Given the description of an element on the screen output the (x, y) to click on. 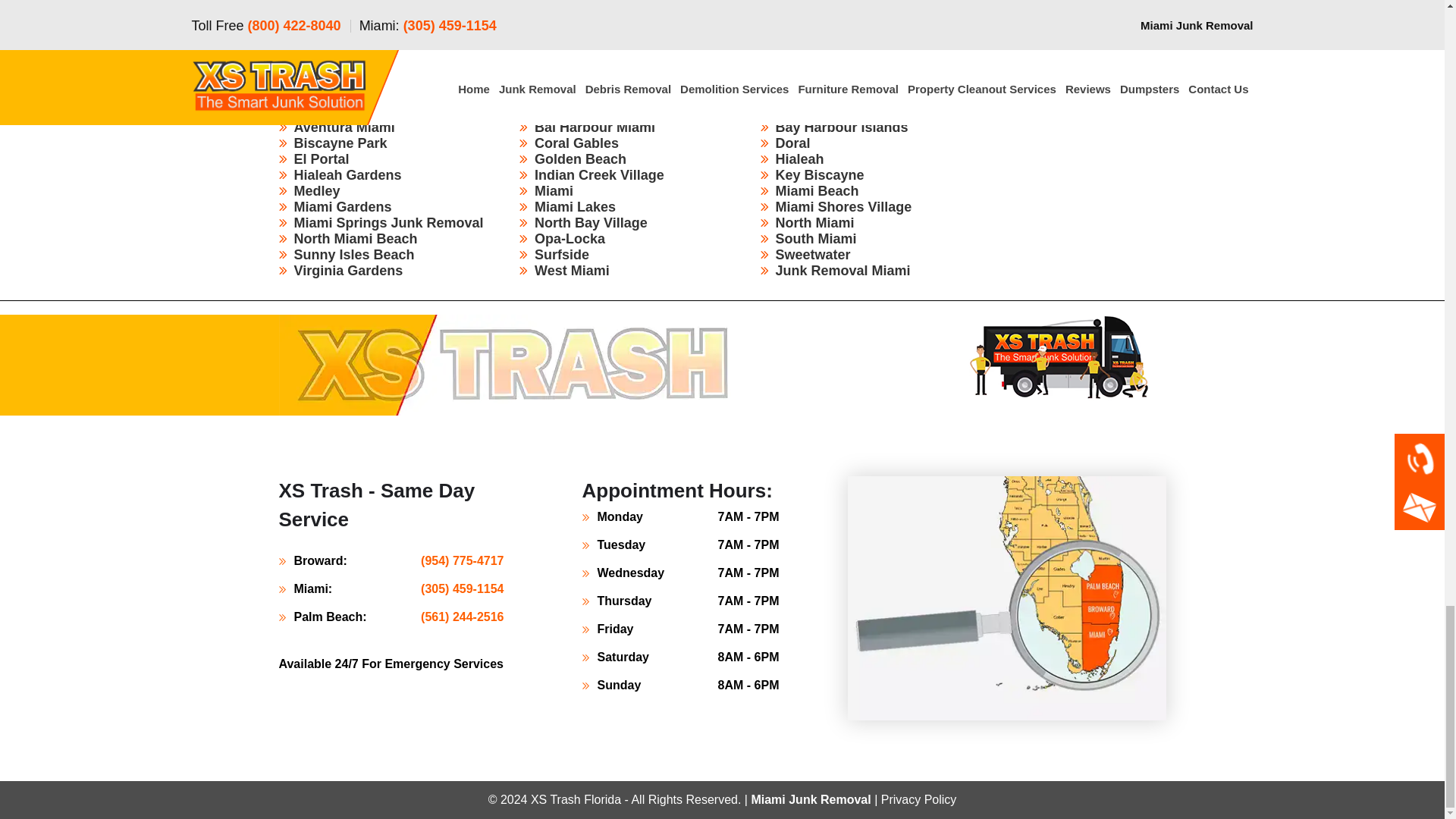
Coral Gables (576, 142)
Bal Harbour Miami (594, 127)
Indian Creek Village (598, 174)
Medley (317, 191)
Biscayne Park (340, 142)
Key Biscayne (818, 174)
Aventura Miami (344, 127)
Golden Beach (580, 159)
El Portal (321, 159)
Miami Beach (816, 191)
